Given the description of an element on the screen output the (x, y) to click on. 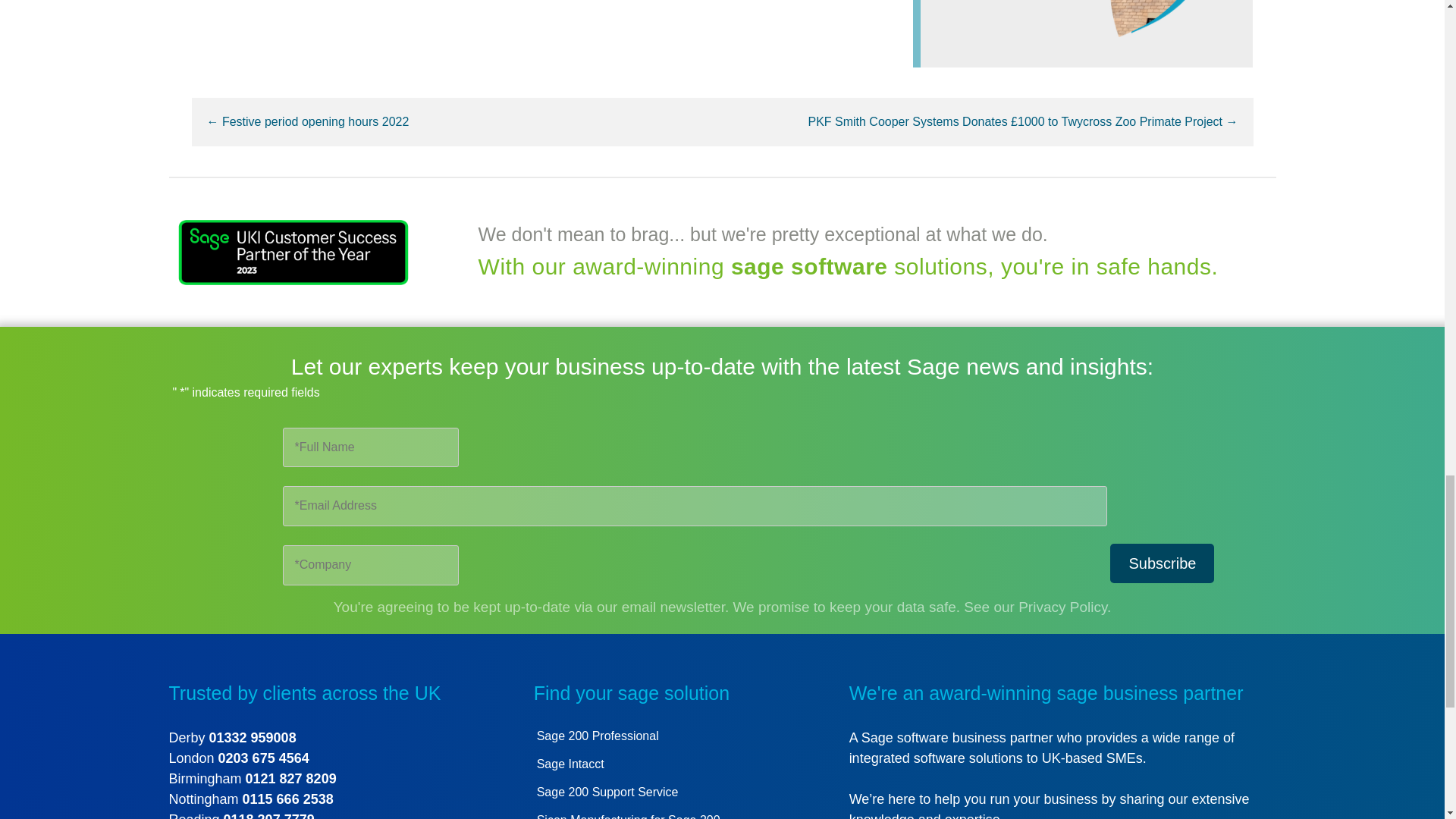
Subscribe (1161, 563)
